Given the description of an element on the screen output the (x, y) to click on. 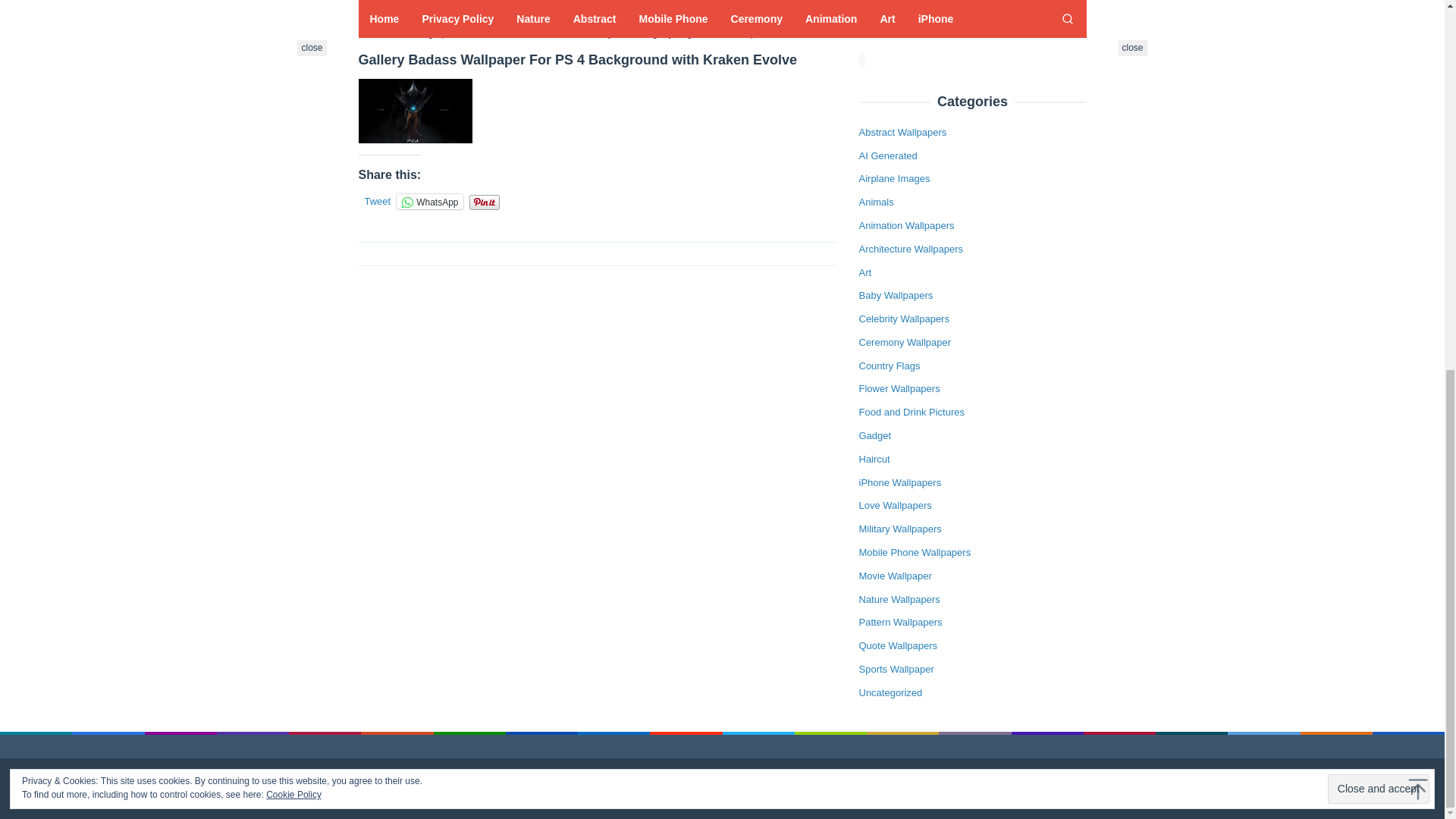
Theme: Superfast (794, 787)
Close and accept (1378, 116)
Click to share on WhatsApp (429, 201)
Tweet (377, 201)
WhatsApp (429, 201)
Proudly powered by WordPress (679, 787)
